Given the description of an element on the screen output the (x, y) to click on. 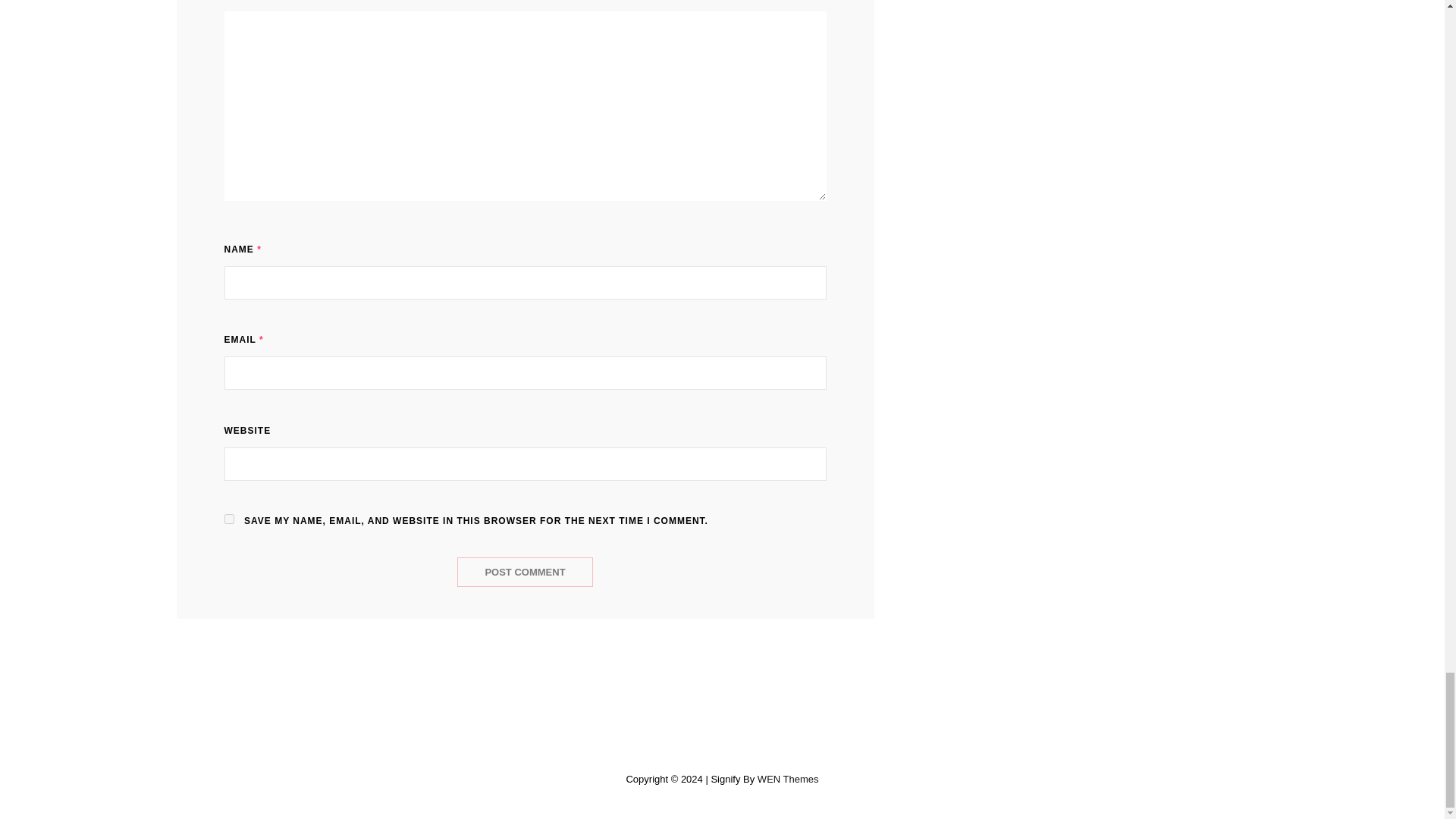
Post Comment (524, 572)
Post Comment (524, 572)
yes (229, 519)
